Given the description of an element on the screen output the (x, y) to click on. 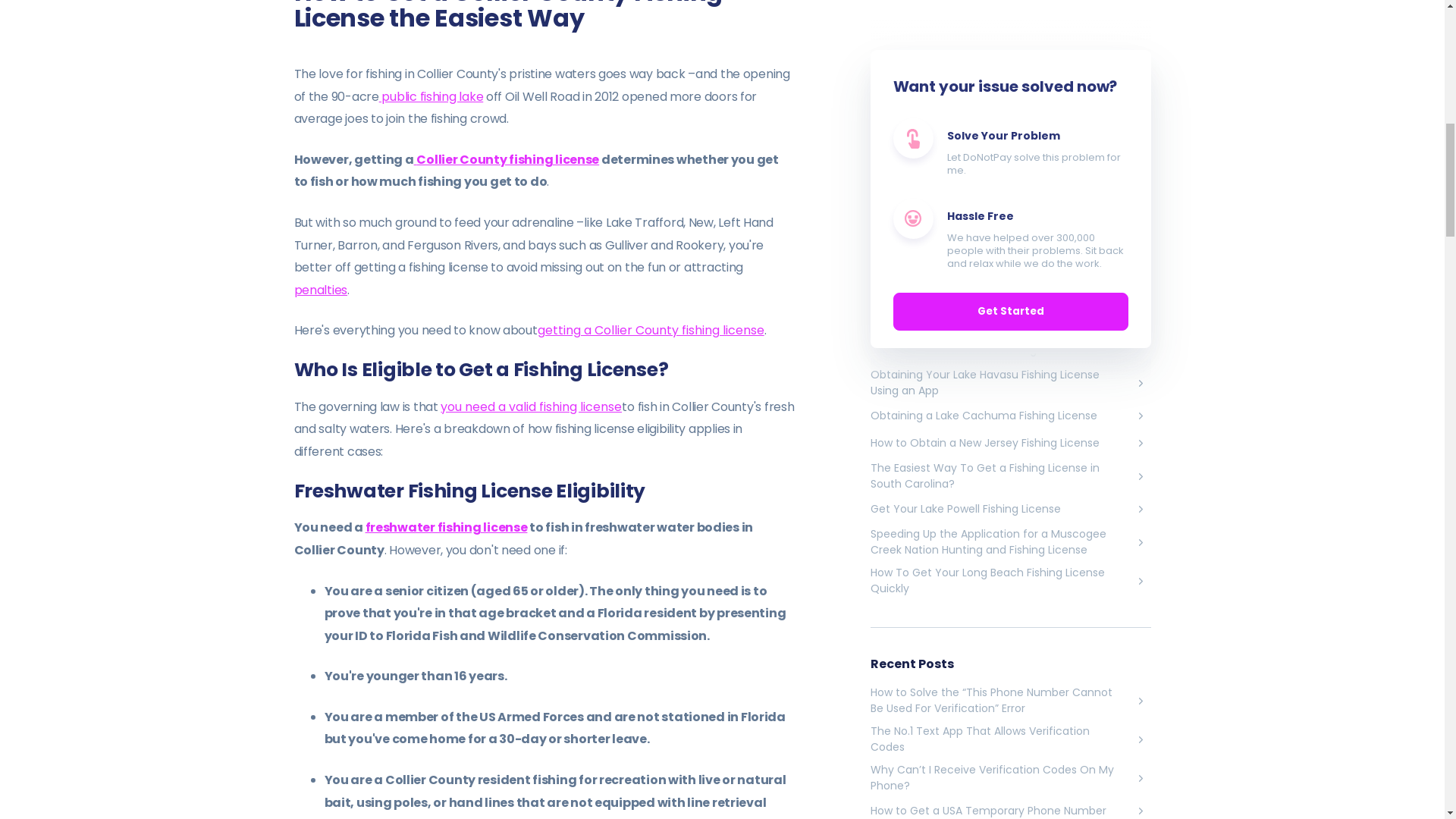
penalties (320, 289)
Collier County fishing license (507, 159)
freshwater fishing license (446, 527)
you need a valid fishing license (531, 406)
public fishing lake (430, 96)
getting a Collier County fishing license (650, 330)
